Given the description of an element on the screen output the (x, y) to click on. 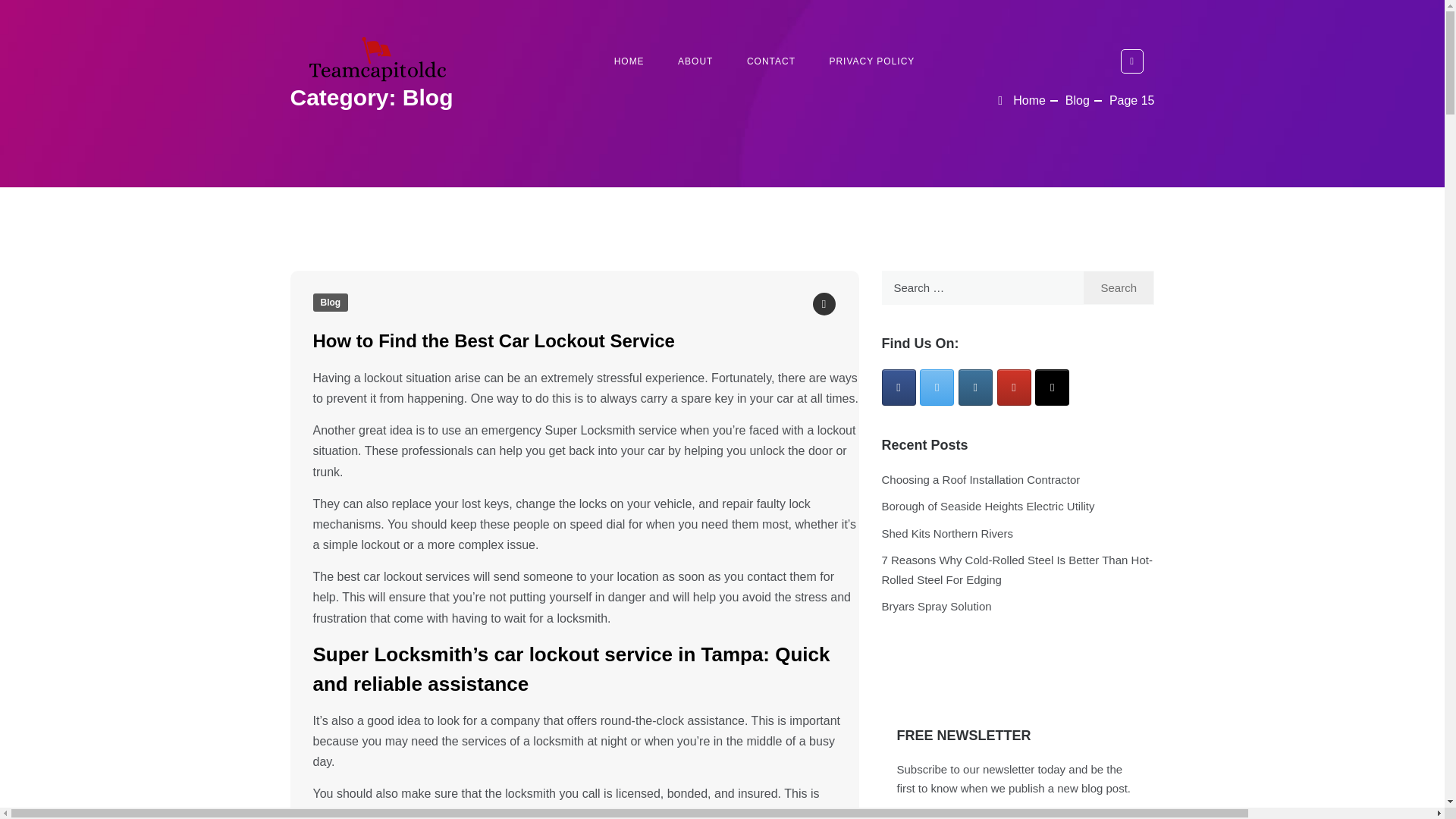
Blog (330, 301)
ABOUT (695, 60)
HOME (628, 60)
PRIVACY POLICY (871, 60)
Blog (1077, 100)
Search (1118, 287)
middle of a busy day. (573, 751)
Teamcapitoldc (354, 60)
Teamcapitoldc on Facebook (897, 387)
Teamcapitoldc on X Twitter (936, 387)
Page 15 (1131, 100)
CONTACT (771, 60)
Teamcapitoldc on Youtube (1013, 387)
How to Find the Best Car Lockout Service (493, 340)
Teamcapitoldc on Instagram (975, 387)
